Given the description of an element on the screen output the (x, y) to click on. 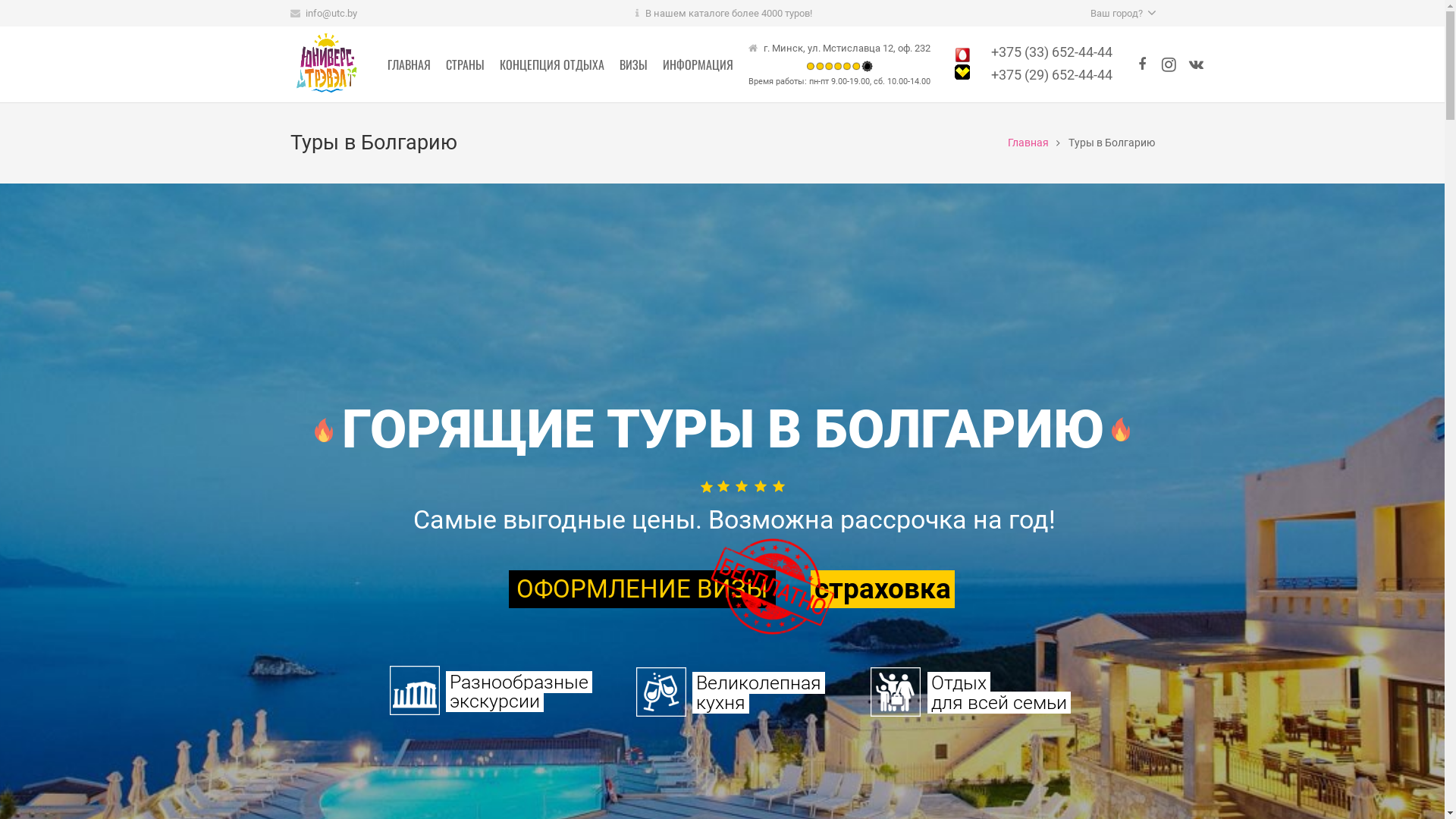
info@utc.by Element type: text (331, 12)
+375 (33) 652-44-44 Element type: text (1051, 51)
+375 (29) 652-44-44 Element type: text (1051, 74)
